Given the description of an element on the screen output the (x, y) to click on. 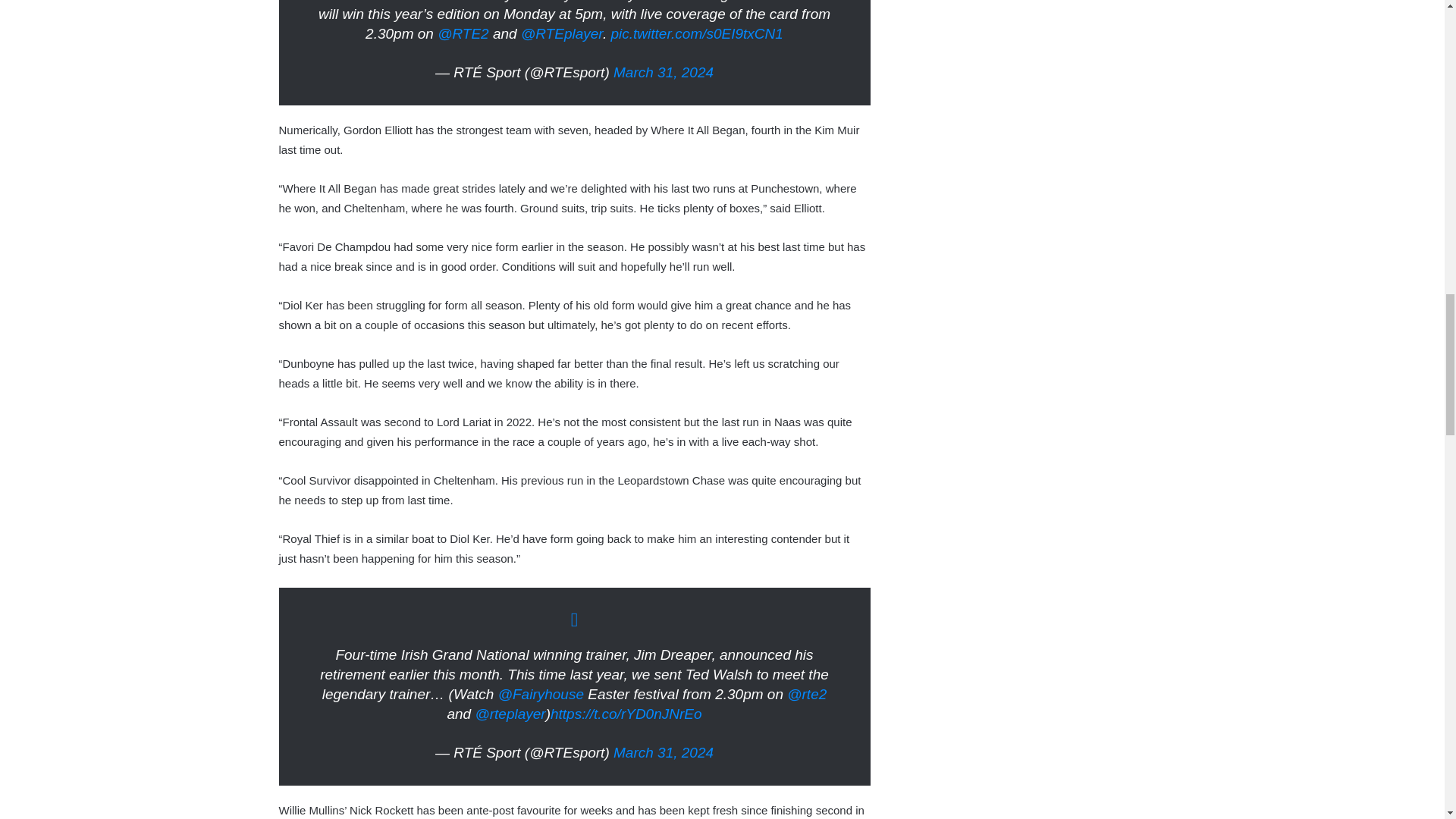
March 31, 2024 (662, 72)
March 31, 2024 (662, 752)
